Given the description of an element on the screen output the (x, y) to click on. 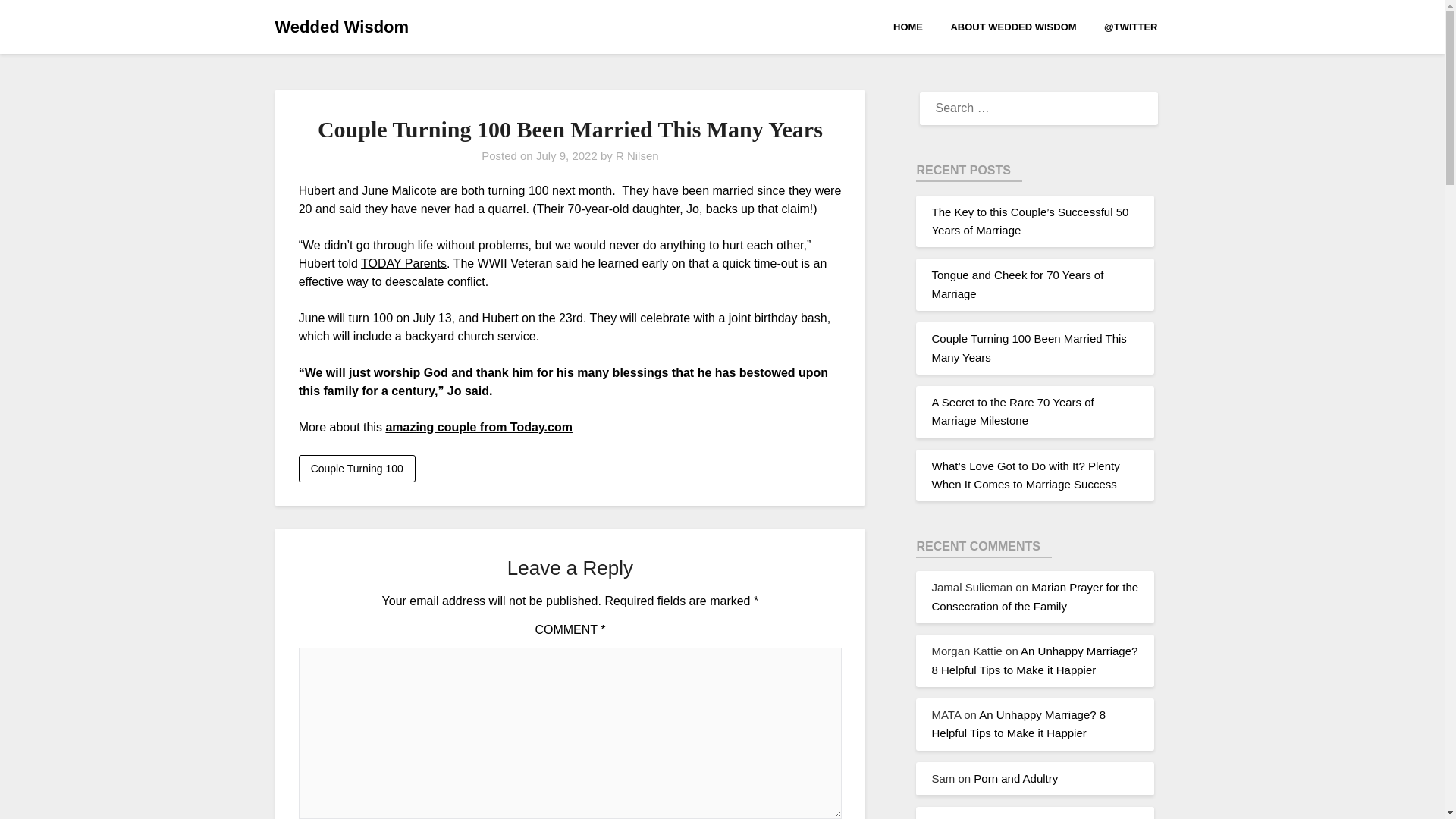
Wedded Wisdom (342, 26)
amazing couple from Today.com (478, 427)
Couple Turning 100 Been Married This Many Years (1028, 347)
Marian Prayer for the Consecration of the Family (1034, 595)
An Unhappy Marriage? 8 Helpful Tips to Make it Happier (1034, 659)
Couple Turning 100 (356, 468)
An Unhappy Marriage? 8 Helpful Tips to Make it Happier (1018, 723)
R Nilsen (637, 155)
The 5 Qualities for a Happy Marriage (1032, 817)
TODAY Parents (403, 263)
Search (38, 22)
cornersonmymind (976, 817)
Porn and Adultry (1016, 778)
July 9, 2022 (565, 155)
HOME (913, 26)
